Given the description of an element on the screen output the (x, y) to click on. 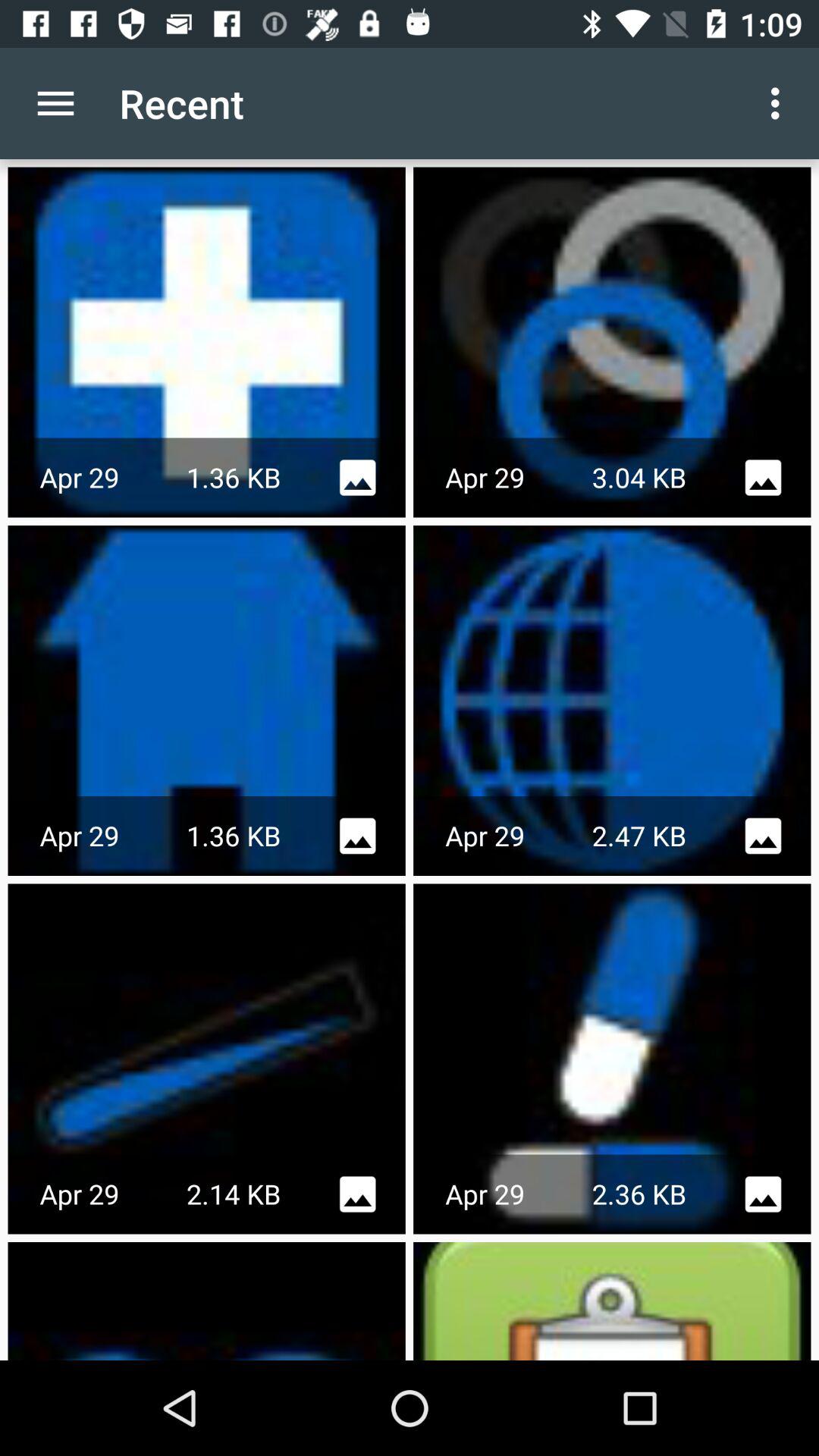
turn on the app to the left of the recent item (55, 103)
